Given the description of an element on the screen output the (x, y) to click on. 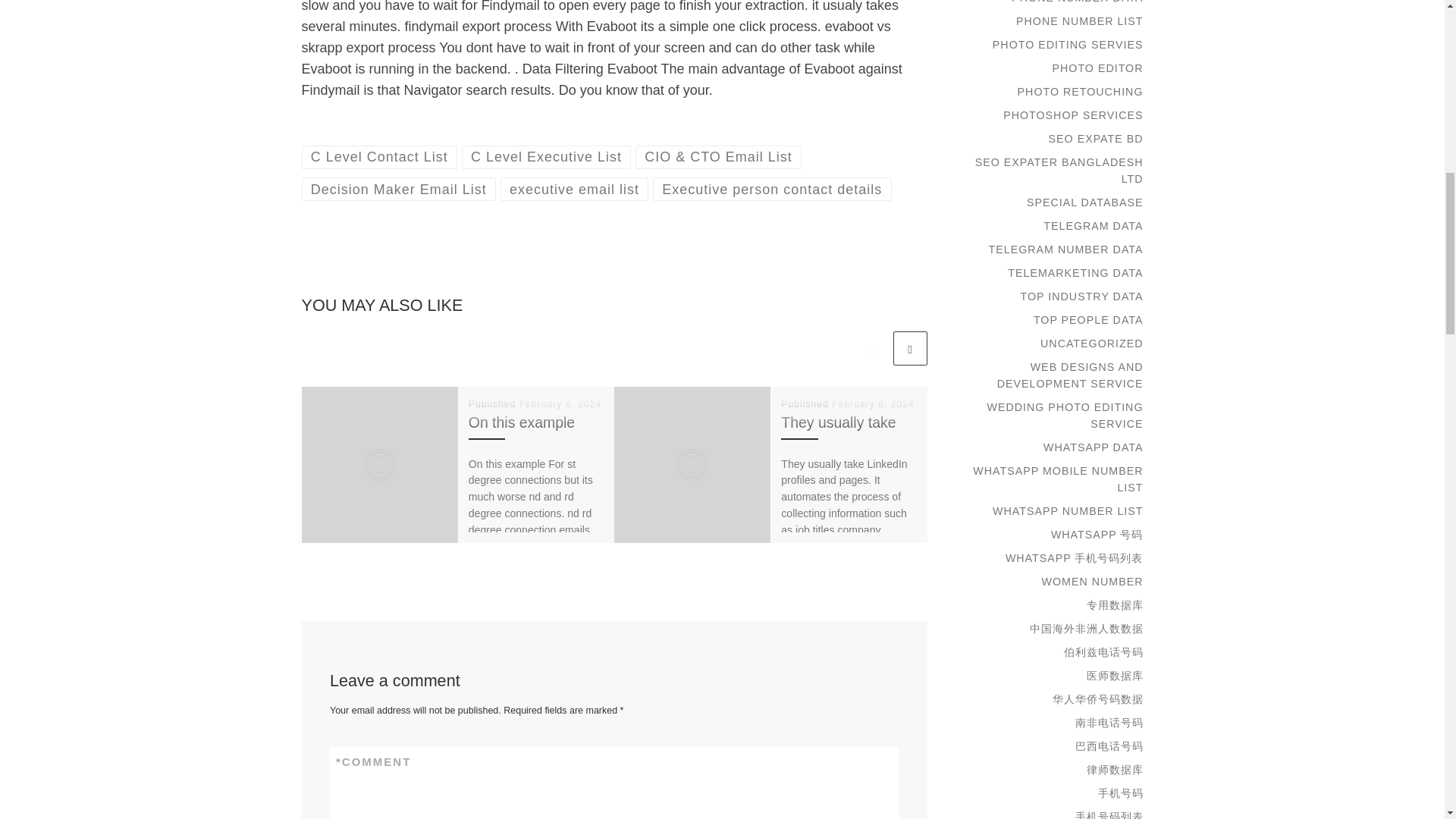
They usually take (837, 422)
C Level Contact List (379, 156)
executive email list (574, 188)
C Level Executive List (546, 156)
View all posts in C Level Contact List (379, 156)
View all posts in Decision Maker Email List (398, 188)
View all posts in Executive person contact details (771, 188)
View all posts in executive email list (574, 188)
On this example (521, 422)
February 8, 2024 (560, 403)
View all posts in C Level Executive List (546, 156)
Next related articles (910, 348)
Decision Maker Email List (398, 188)
February 8, 2024 (872, 403)
Previous related articles (872, 348)
